Given the description of an element on the screen output the (x, y) to click on. 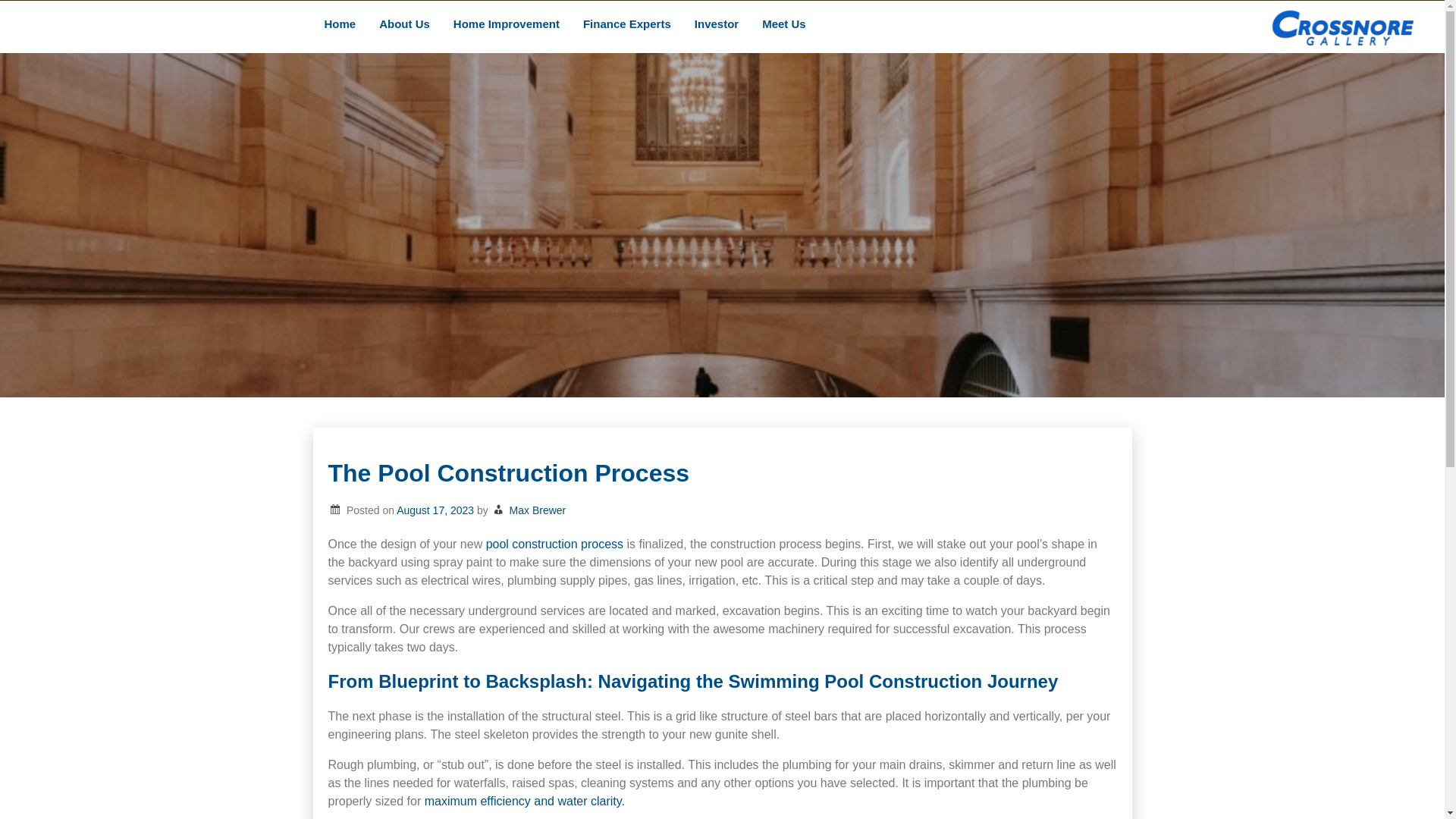
Home Improvement (507, 24)
Finance Experts (627, 24)
Max Brewer (537, 510)
August 17, 2023 (435, 510)
About Us (405, 24)
pool construction process (554, 543)
Meet Us (784, 24)
Investor (716, 24)
Home (340, 24)
Crossnore Gallery (197, 182)
maximum efficiency and water clarity. (524, 800)
